Given the description of an element on the screen output the (x, y) to click on. 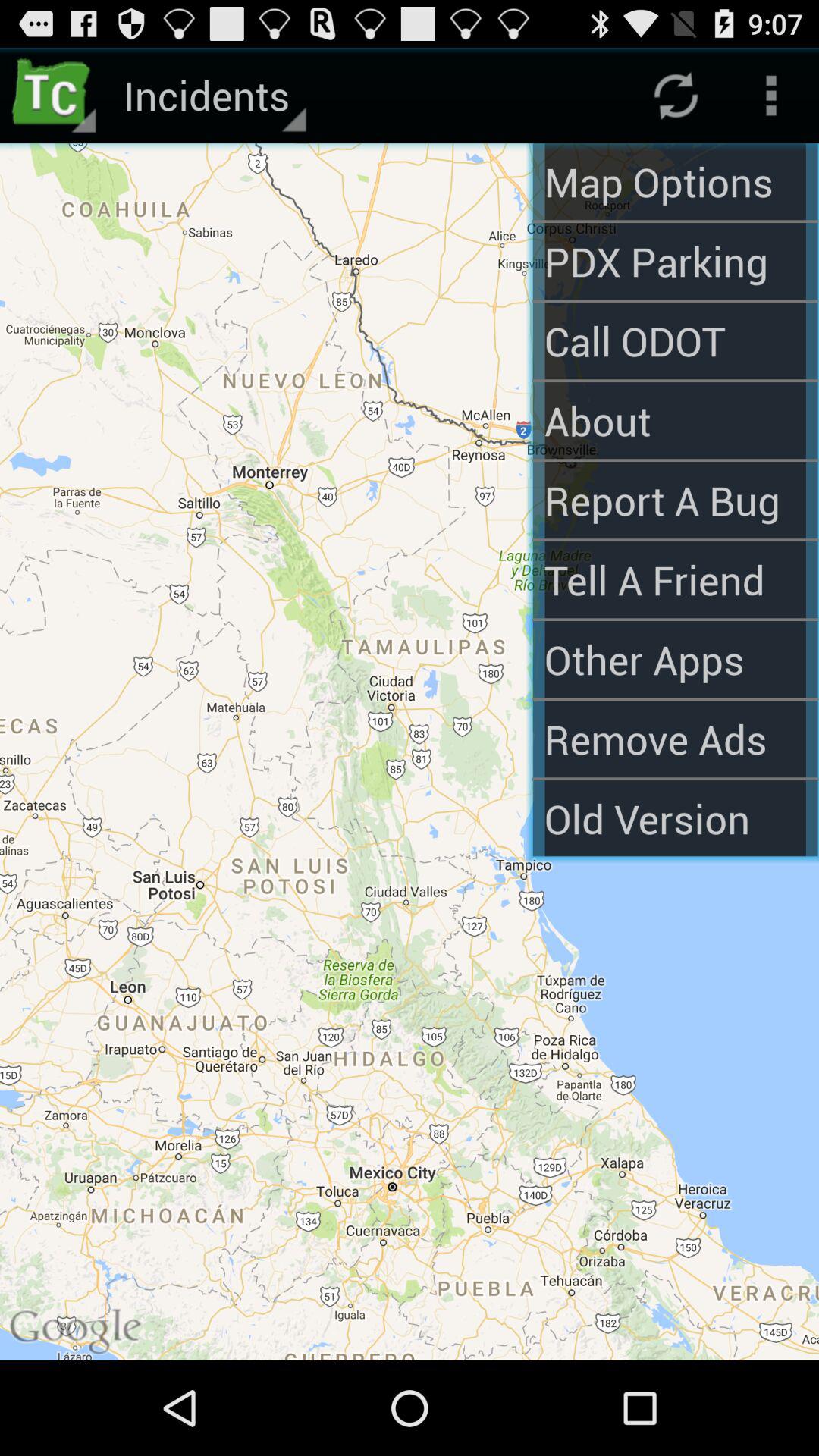
click map options (675, 181)
